Given the description of an element on the screen output the (x, y) to click on. 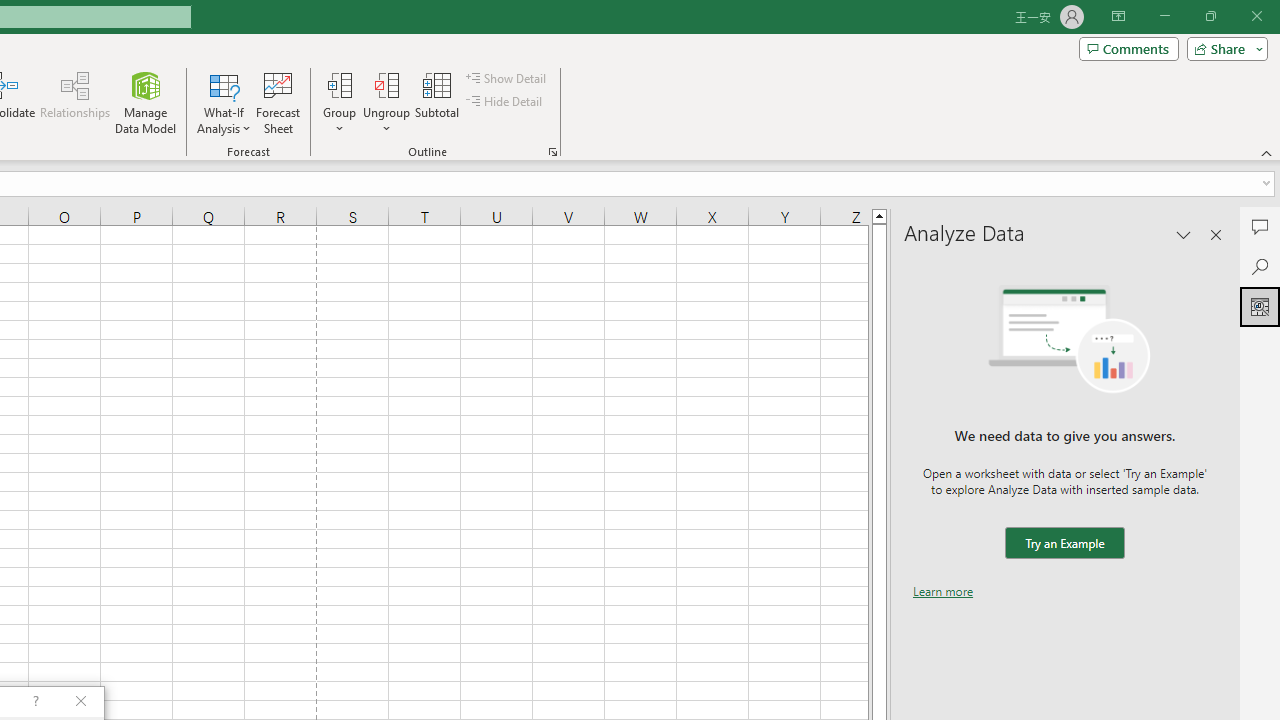
Search (1260, 266)
Forecast Sheet (278, 102)
Hide Detail (505, 101)
Group... (339, 102)
Group and Outline Settings (552, 151)
What-If Analysis (223, 102)
Restore Down (1210, 16)
Task Pane Options (1183, 234)
Relationships (75, 102)
We need data to give you answers. Try an Example (1064, 543)
